Given the description of an element on the screen output the (x, y) to click on. 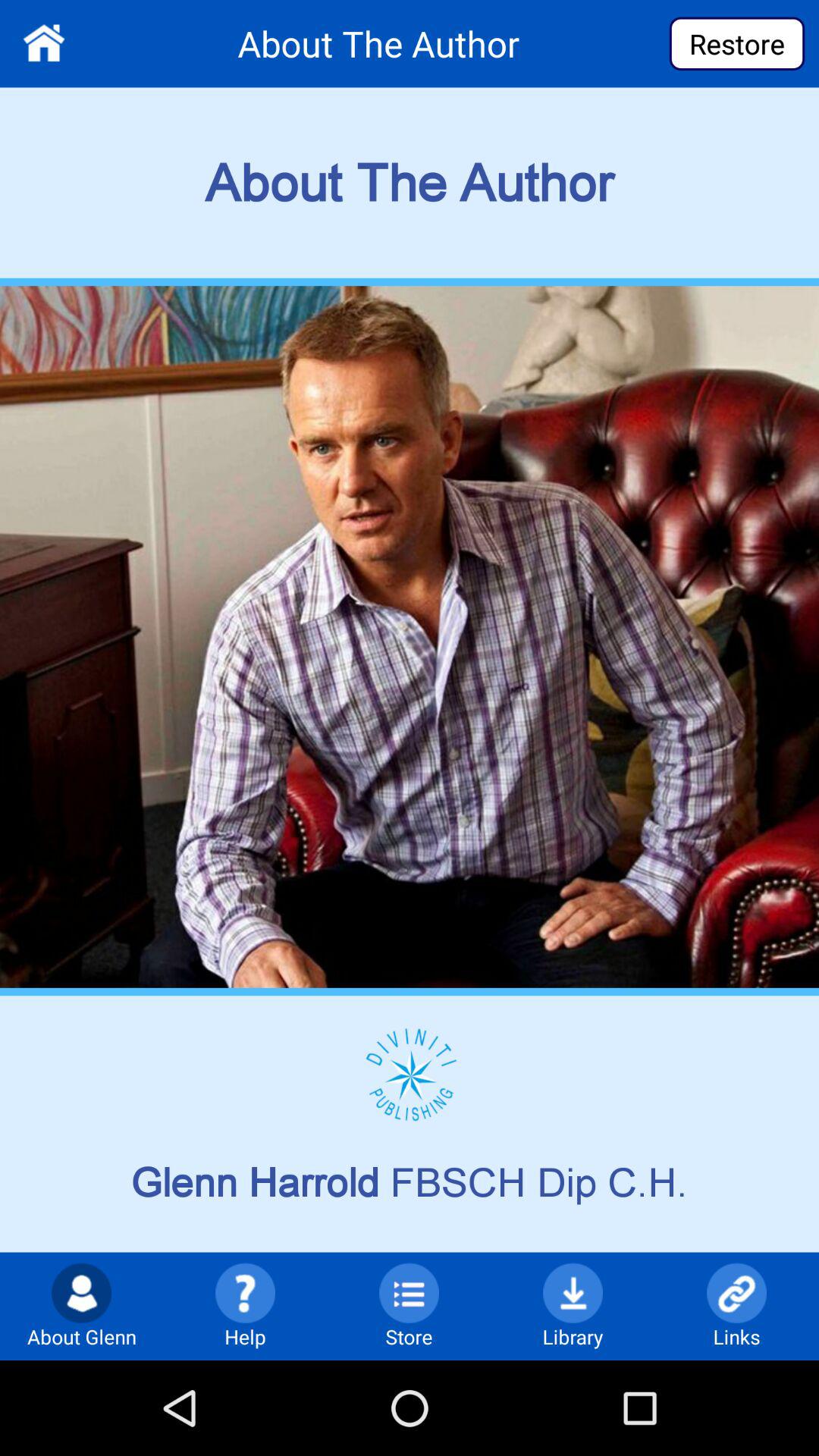
select link icon at the bottom of the page (736, 1292)
select the restore button at top right corner (736, 43)
click the icon which is left side of help option (81, 1292)
